Given the description of an element on the screen output the (x, y) to click on. 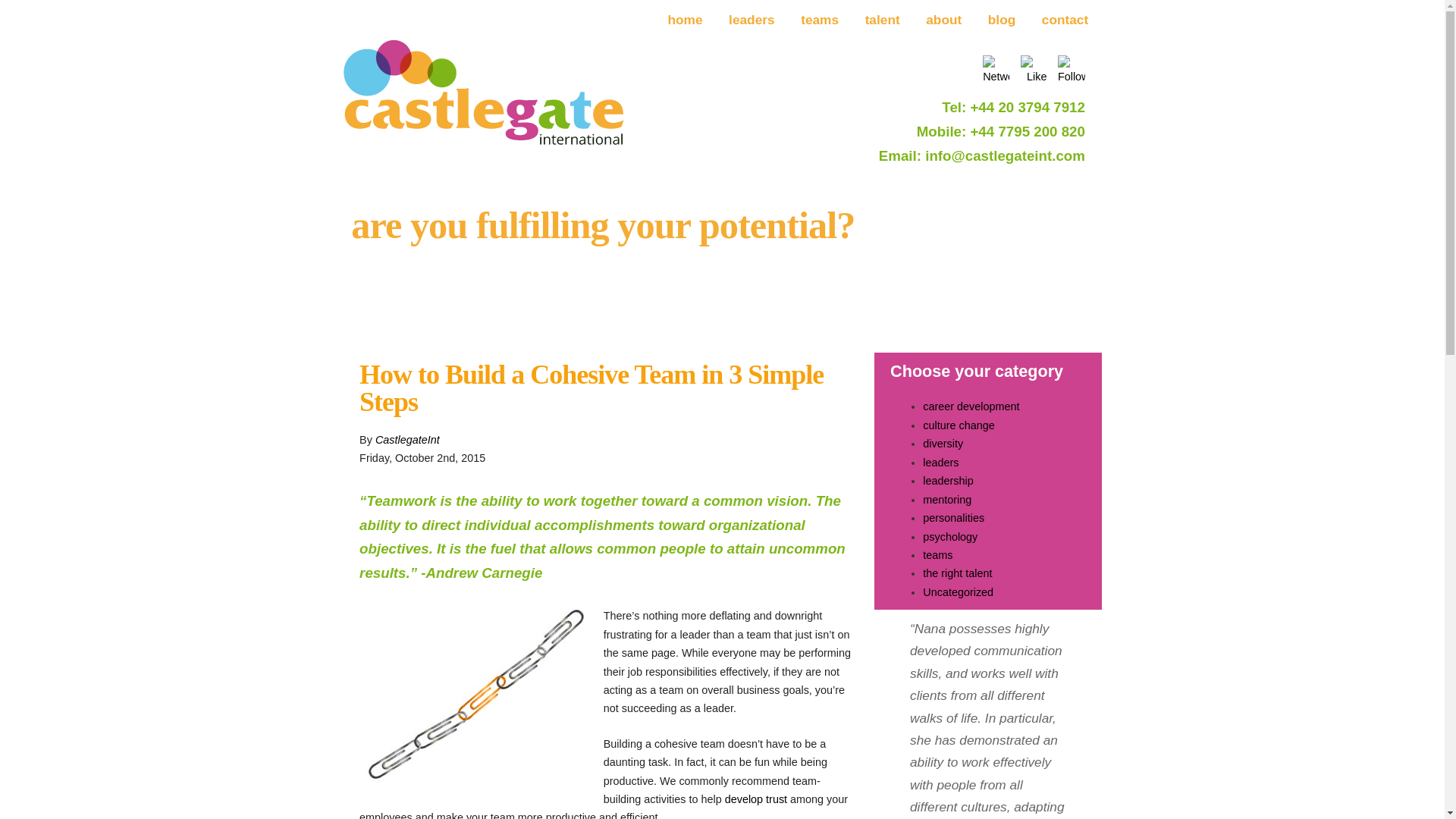
about (943, 19)
teams (937, 554)
CastlegateInt (407, 439)
CastlegateInt (407, 439)
teams (819, 19)
personalities (953, 517)
leaders (751, 19)
diversity (942, 443)
the right talent (957, 573)
blog (1002, 19)
